Given the description of an element on the screen output the (x, y) to click on. 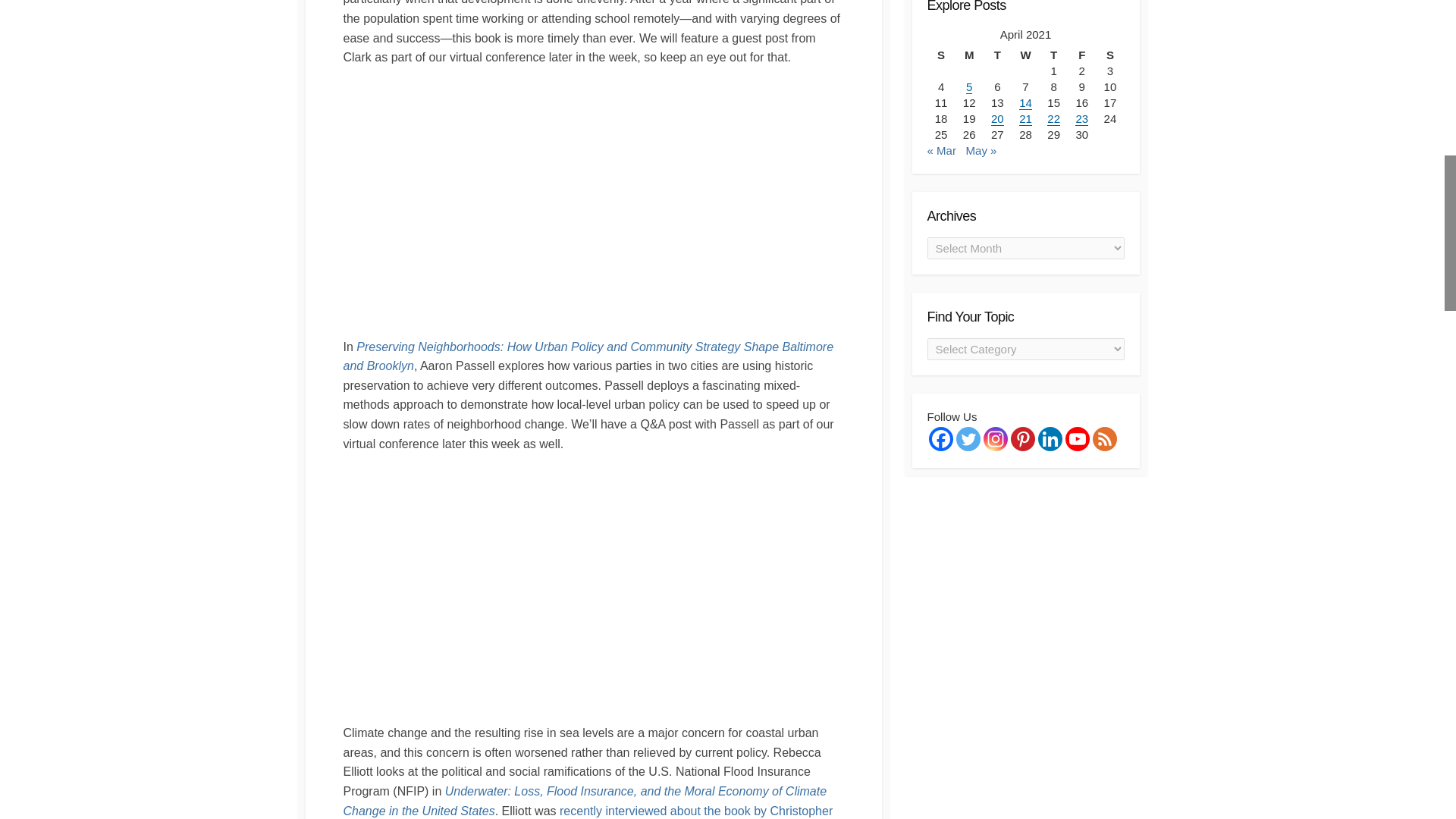
Thursday (1053, 54)
Monday (969, 54)
Friday (1081, 54)
Sunday (940, 54)
Tuesday (997, 54)
Wednesday (1025, 54)
